Given the description of an element on the screen output the (x, y) to click on. 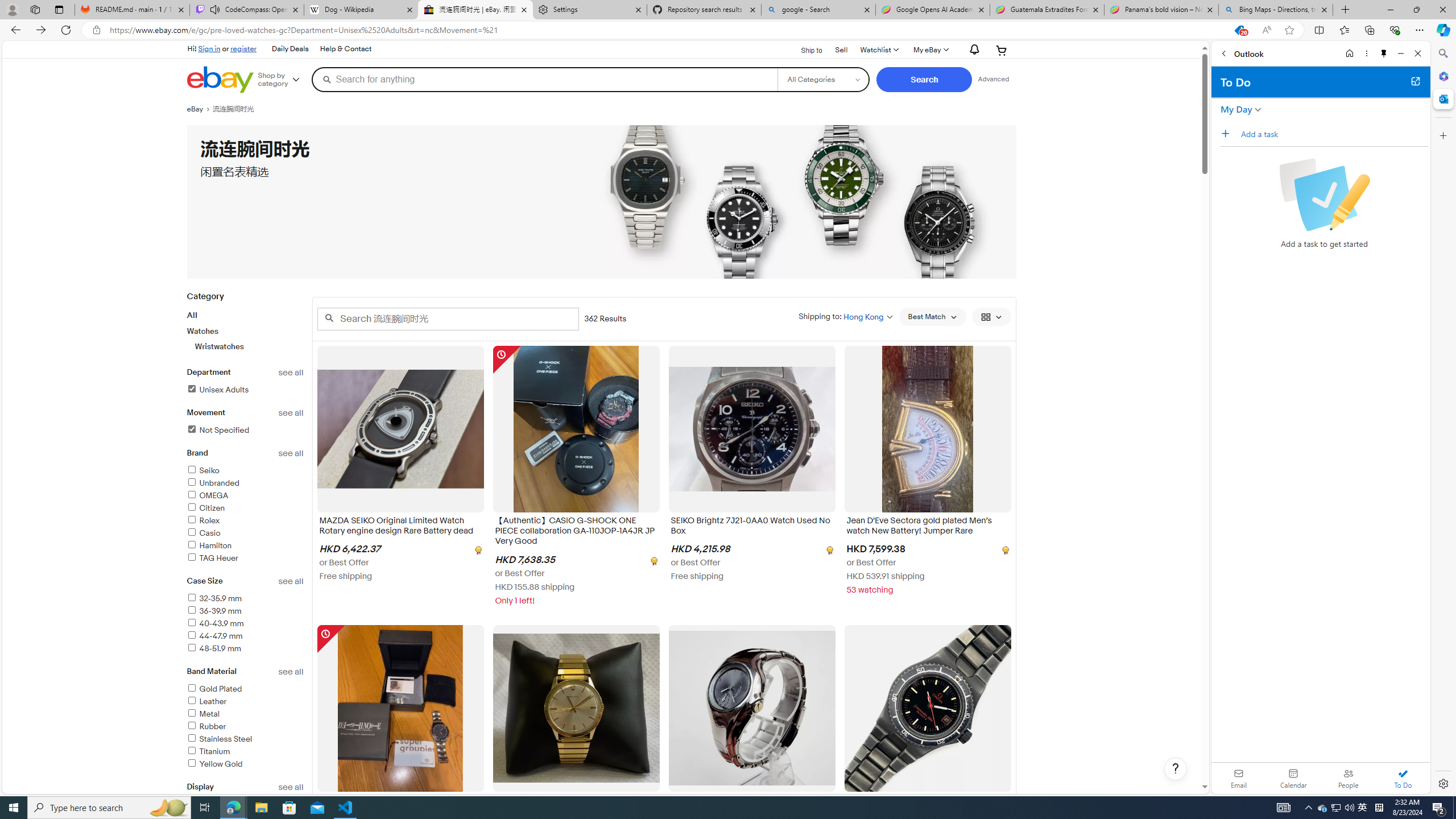
Unbranded (213, 483)
Titanium (245, 751)
48-51.9 mm (213, 648)
Advanced Search (993, 78)
Wristwatches (249, 346)
Casio (245, 533)
Ship to (804, 49)
36-39.9 mm (245, 611)
